Given the description of an element on the screen output the (x, y) to click on. 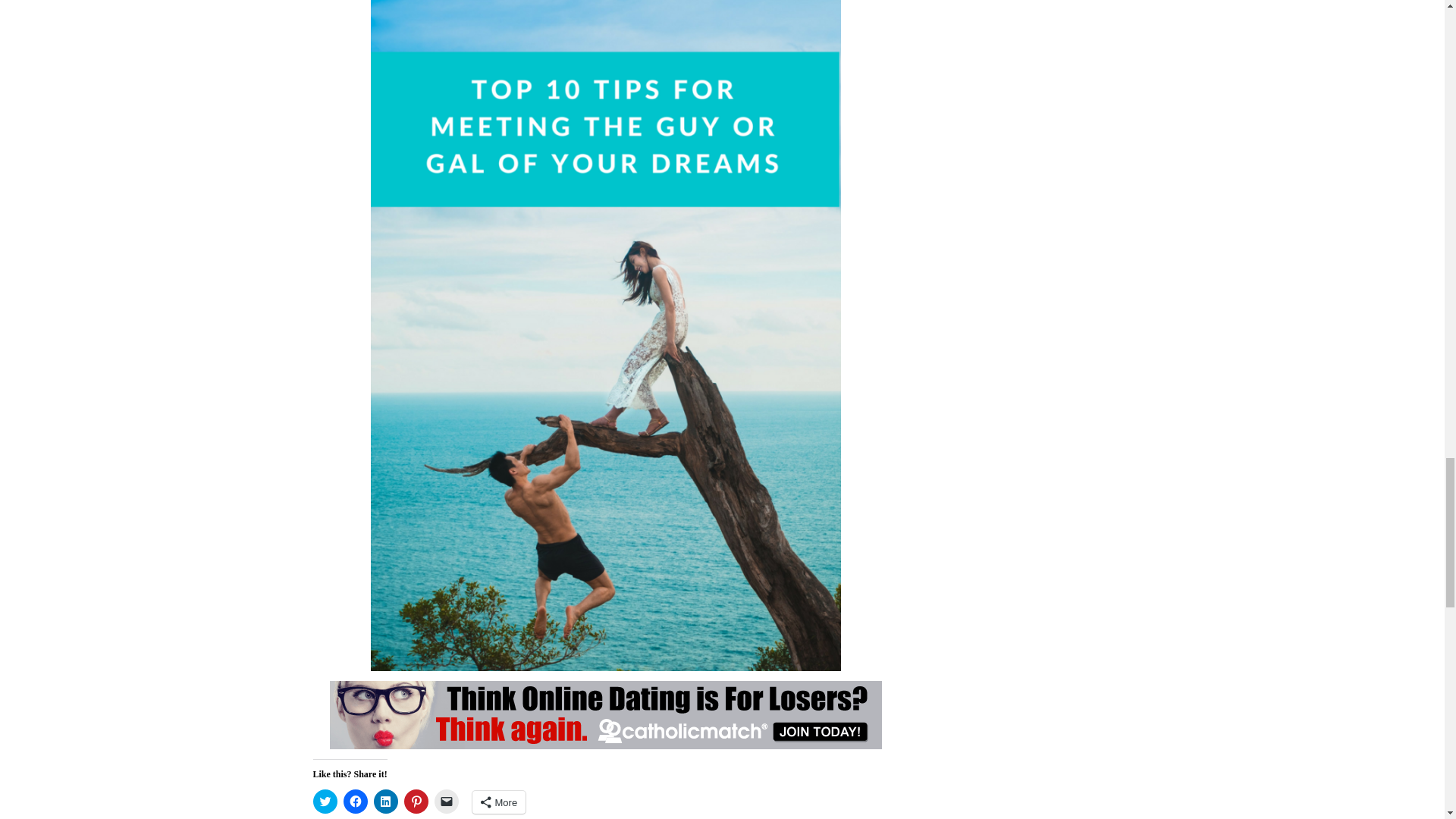
Click to share on Facebook (354, 801)
Click to email a link to a friend (445, 801)
Click to share on Twitter (324, 801)
Click to share on Pinterest (415, 801)
Click to share on LinkedIn (384, 801)
